Given the description of an element on the screen output the (x, y) to click on. 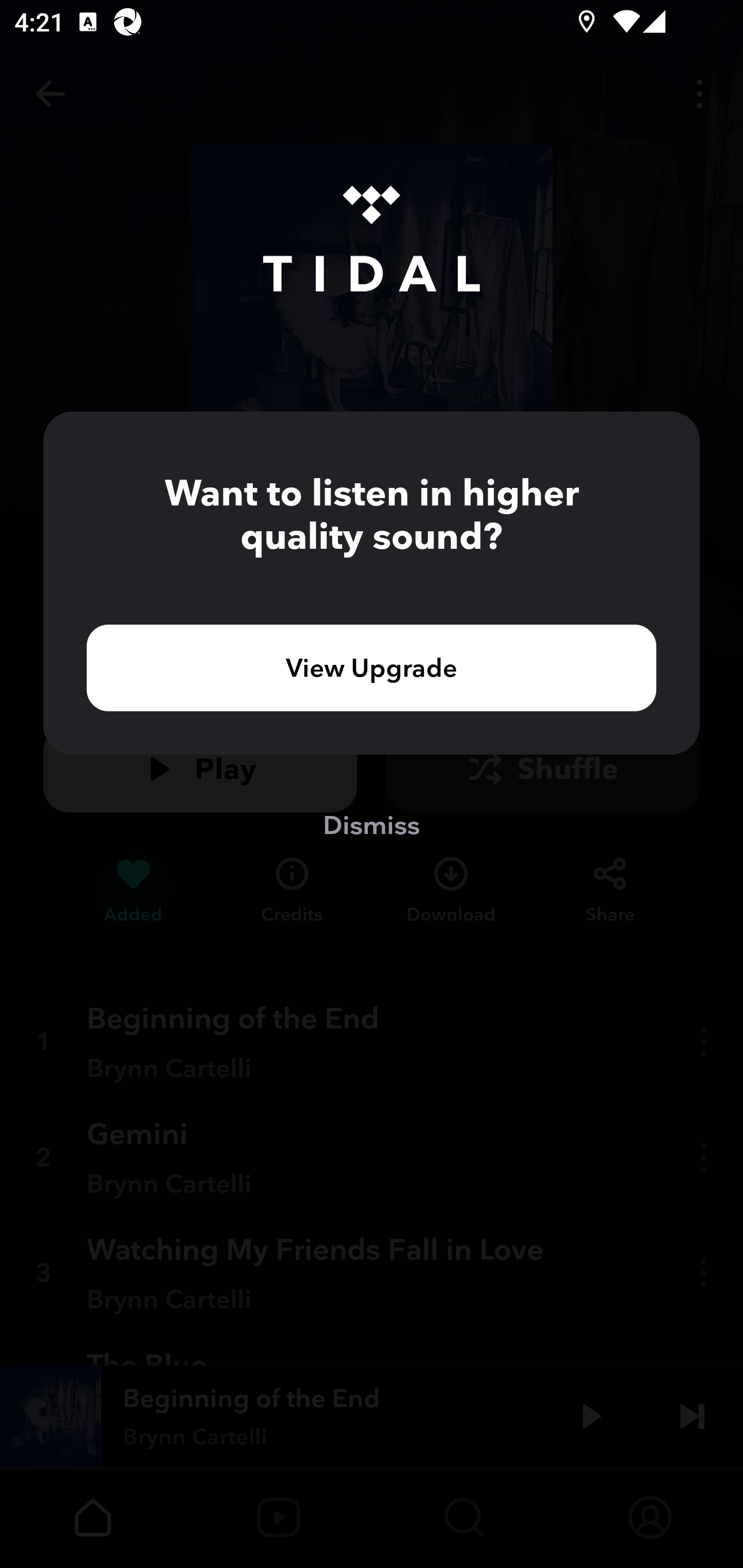
View Upgrade (371, 667)
Dismiss (371, 824)
